Given the description of an element on the screen output the (x, y) to click on. 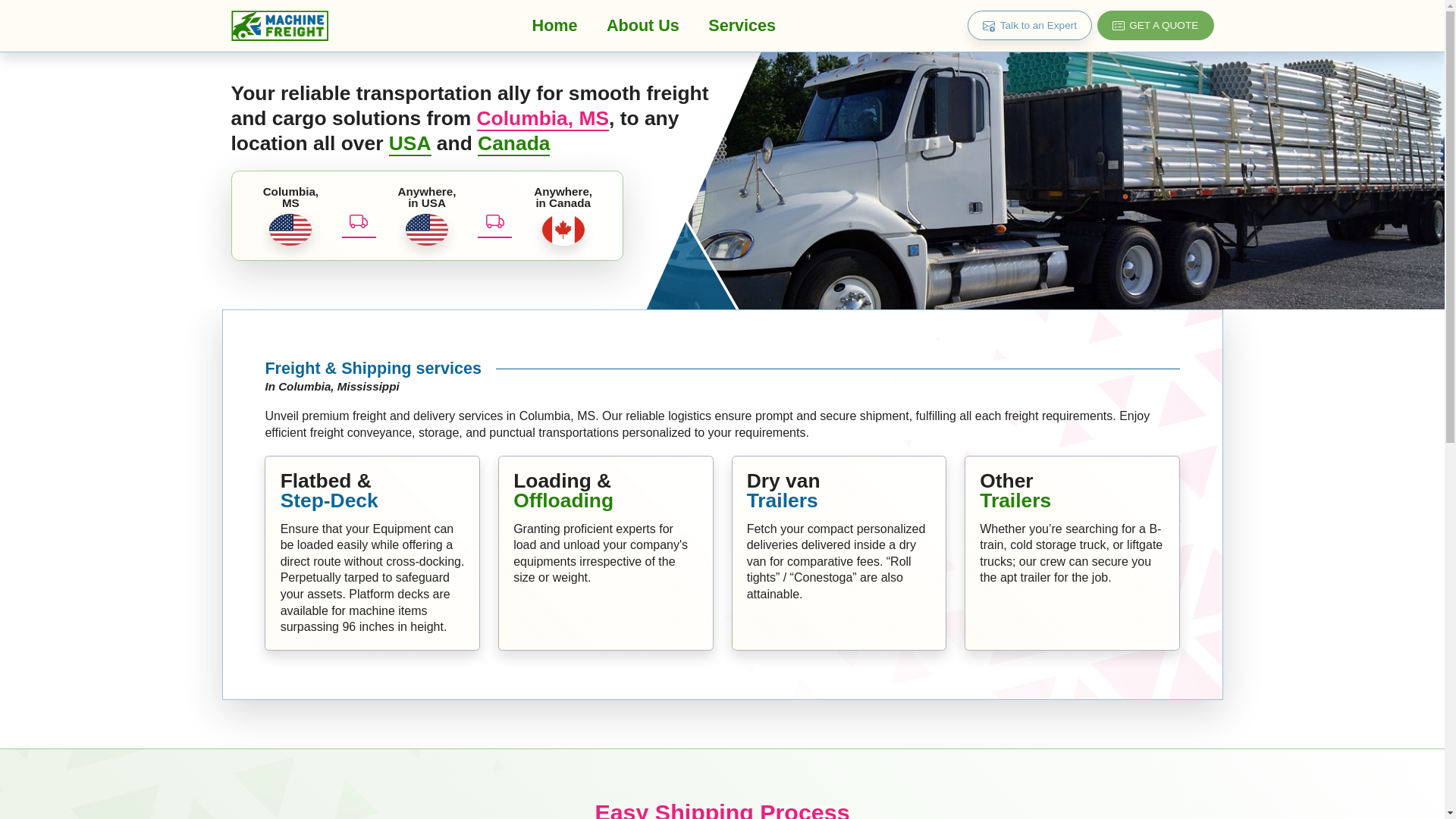
About Us (643, 24)
Talk to an Expert (1030, 25)
GET A QUOTE (1155, 25)
Services (742, 24)
Home (553, 24)
